Given the description of an element on the screen output the (x, y) to click on. 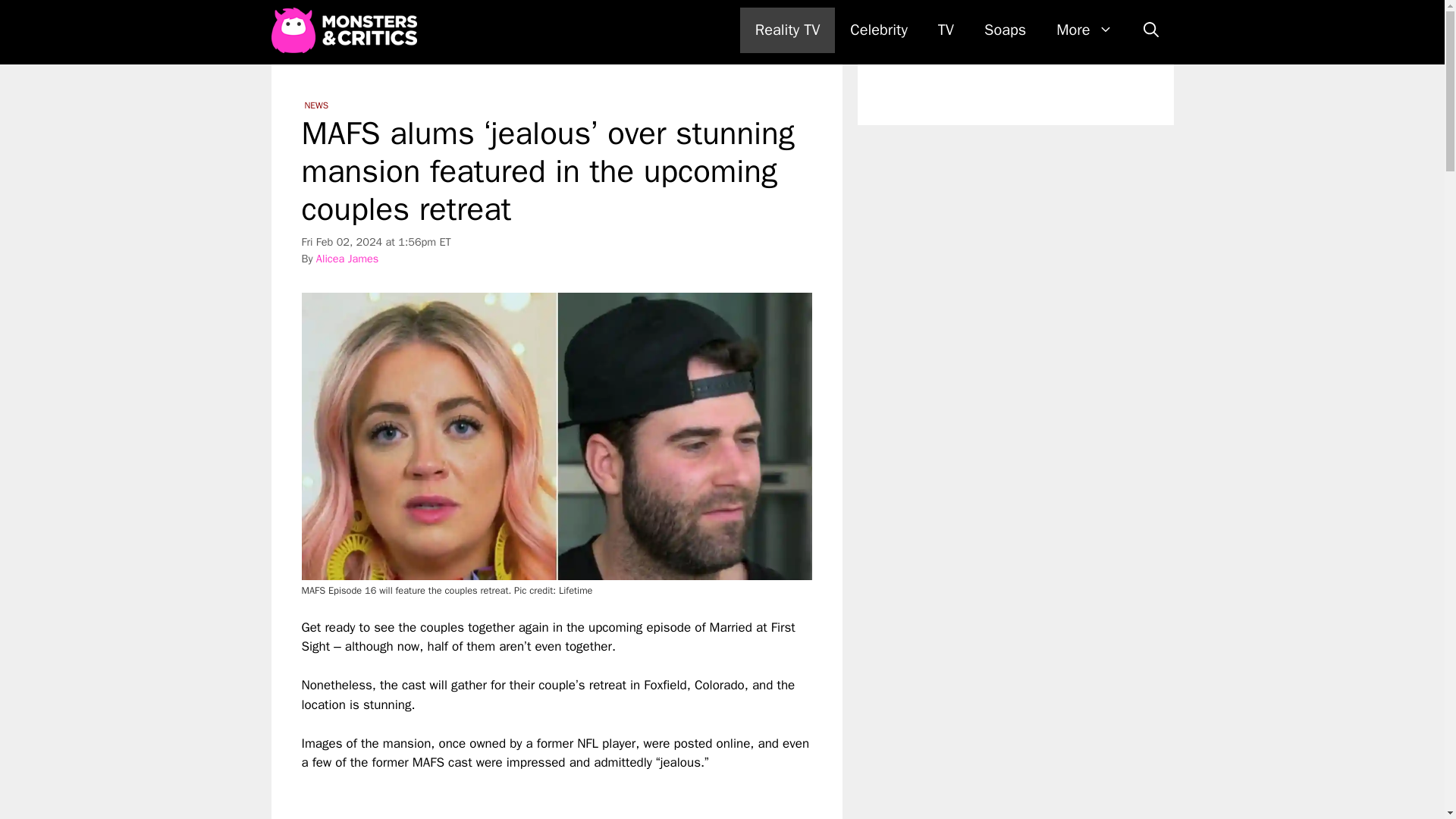
Soaps (1005, 30)
Monsters and Critics (343, 30)
Celebrity (877, 30)
Reality TV (787, 30)
Alicea James (346, 258)
YouTube video player (513, 796)
More (1083, 30)
View all posts by Alicea James (346, 258)
TV (946, 30)
Monsters and Critics (347, 30)
